Given the description of an element on the screen output the (x, y) to click on. 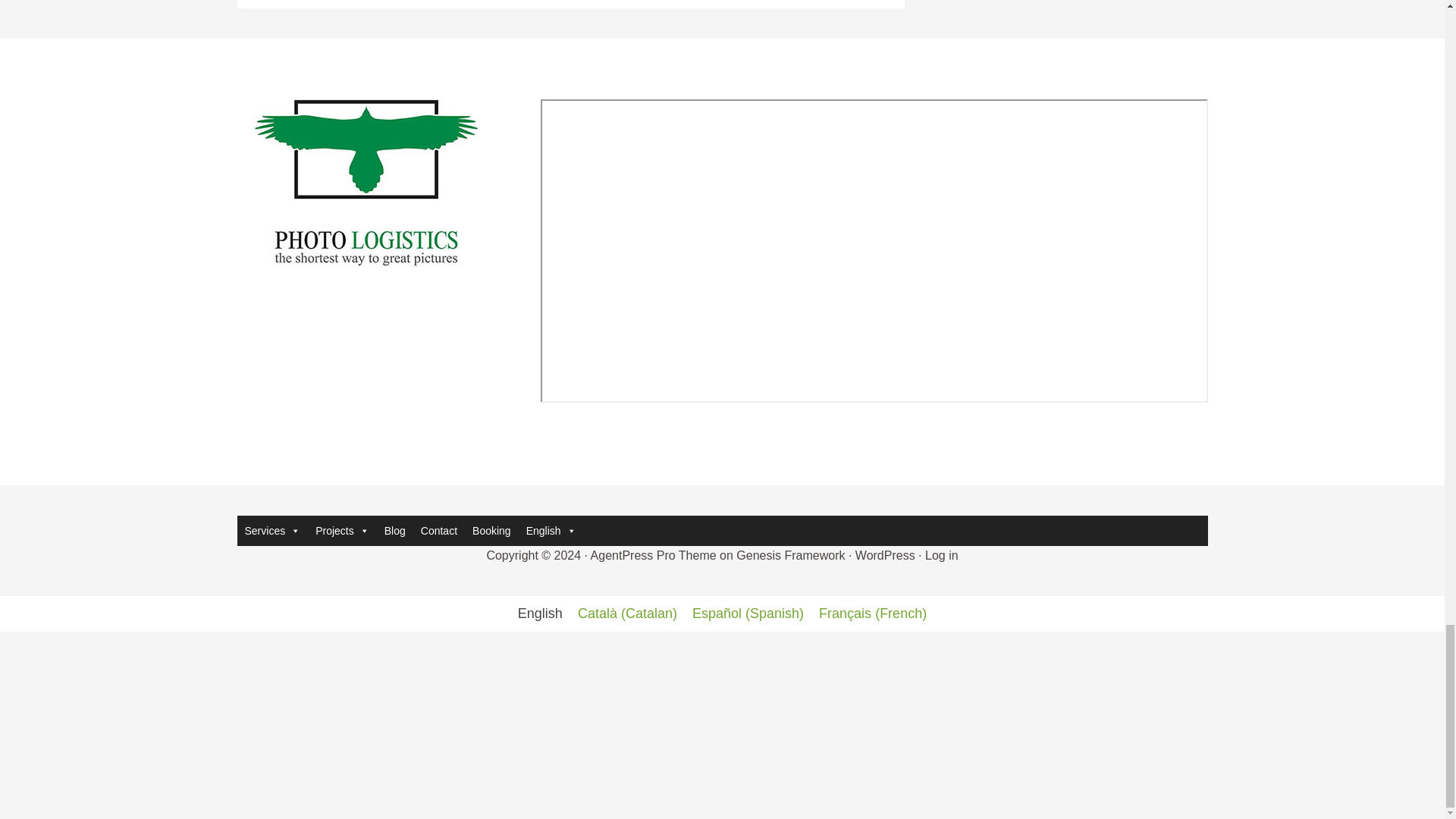
Services (271, 530)
English (550, 530)
